Given the description of an element on the screen output the (x, y) to click on. 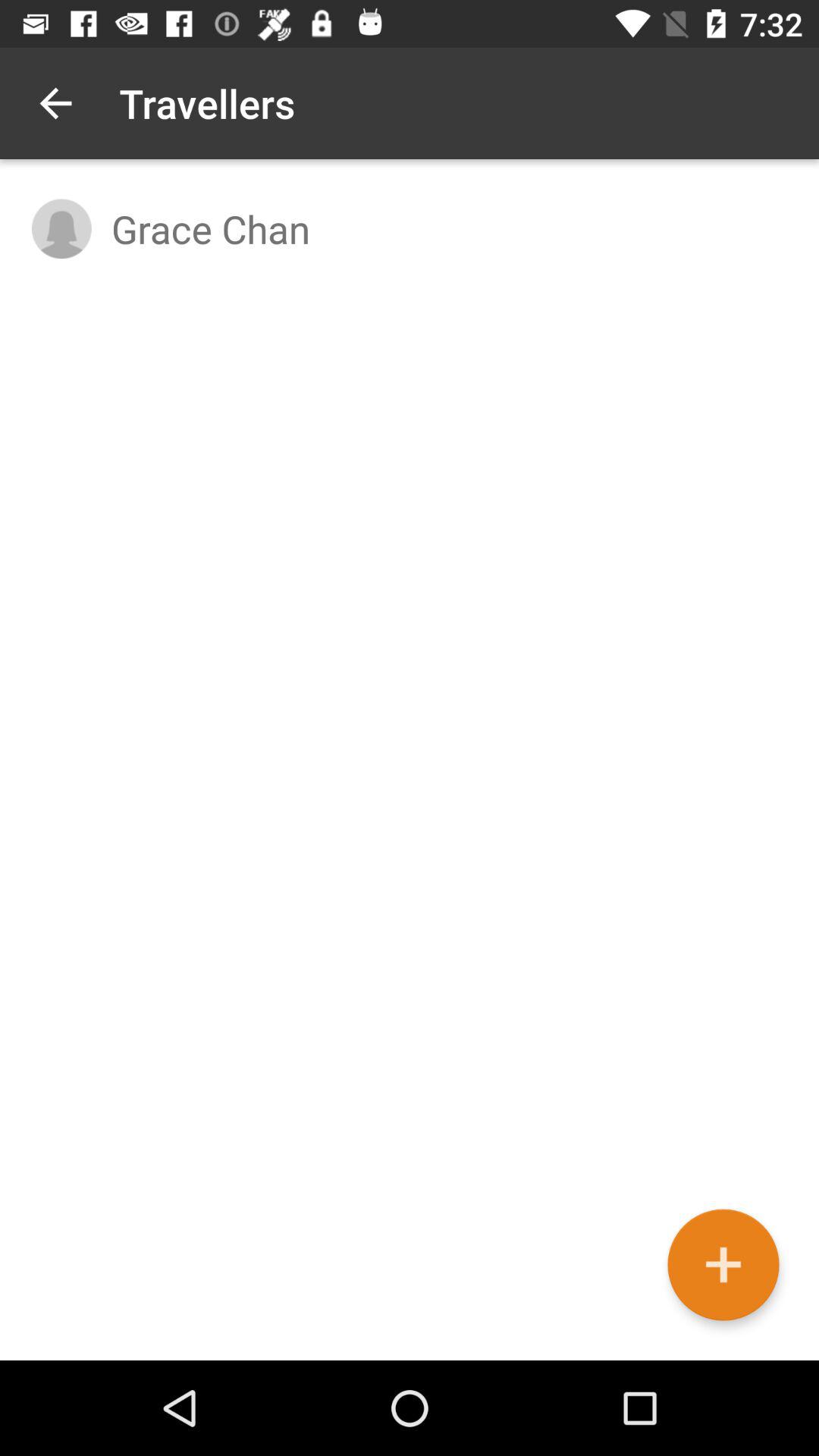
select icon to the left of the travellers icon (55, 103)
